Given the description of an element on the screen output the (x, y) to click on. 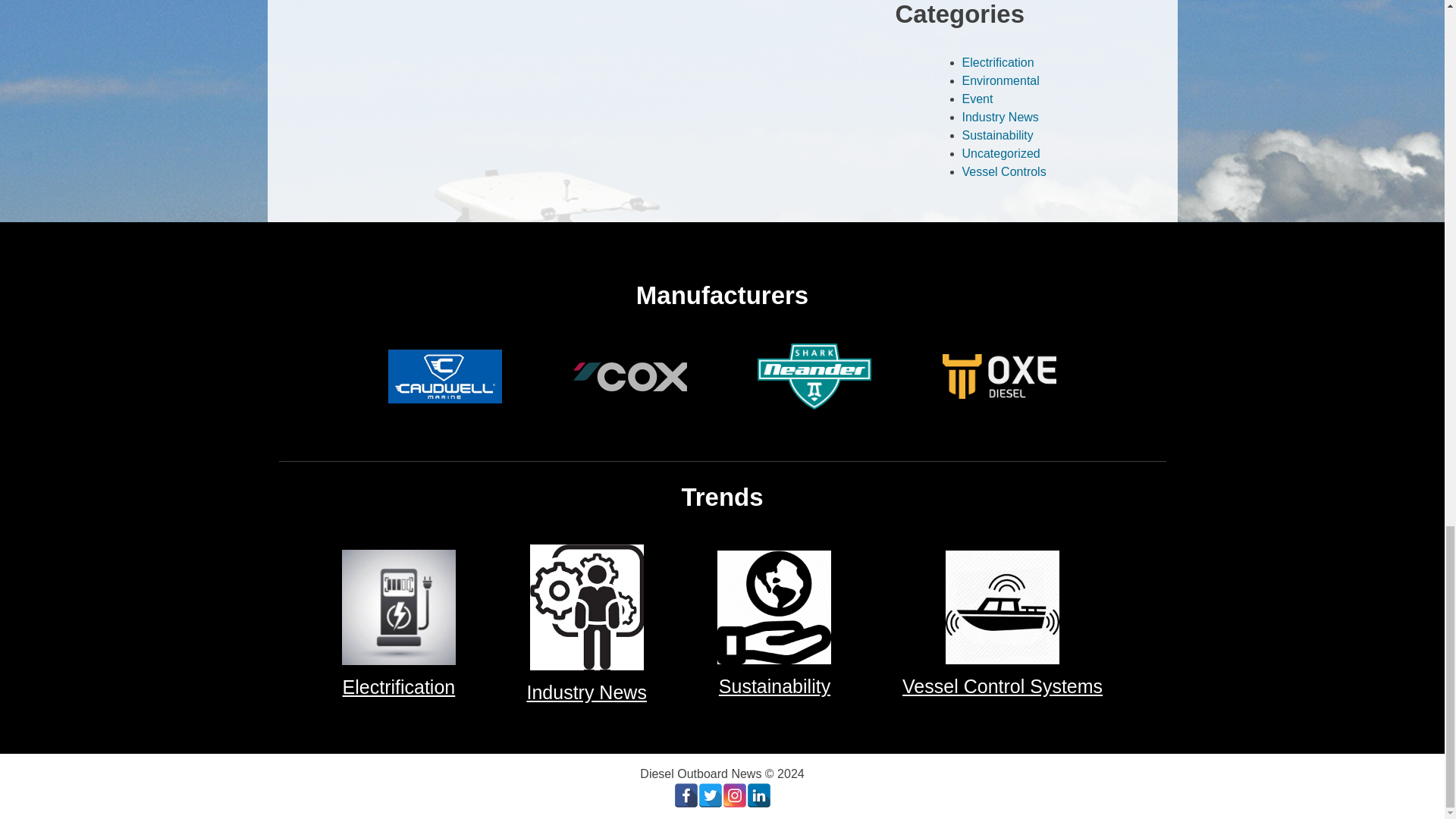
Instagram (733, 794)
Facebook (684, 794)
LinkedIn (757, 794)
Twitter (709, 794)
